Given the description of an element on the screen output the (x, y) to click on. 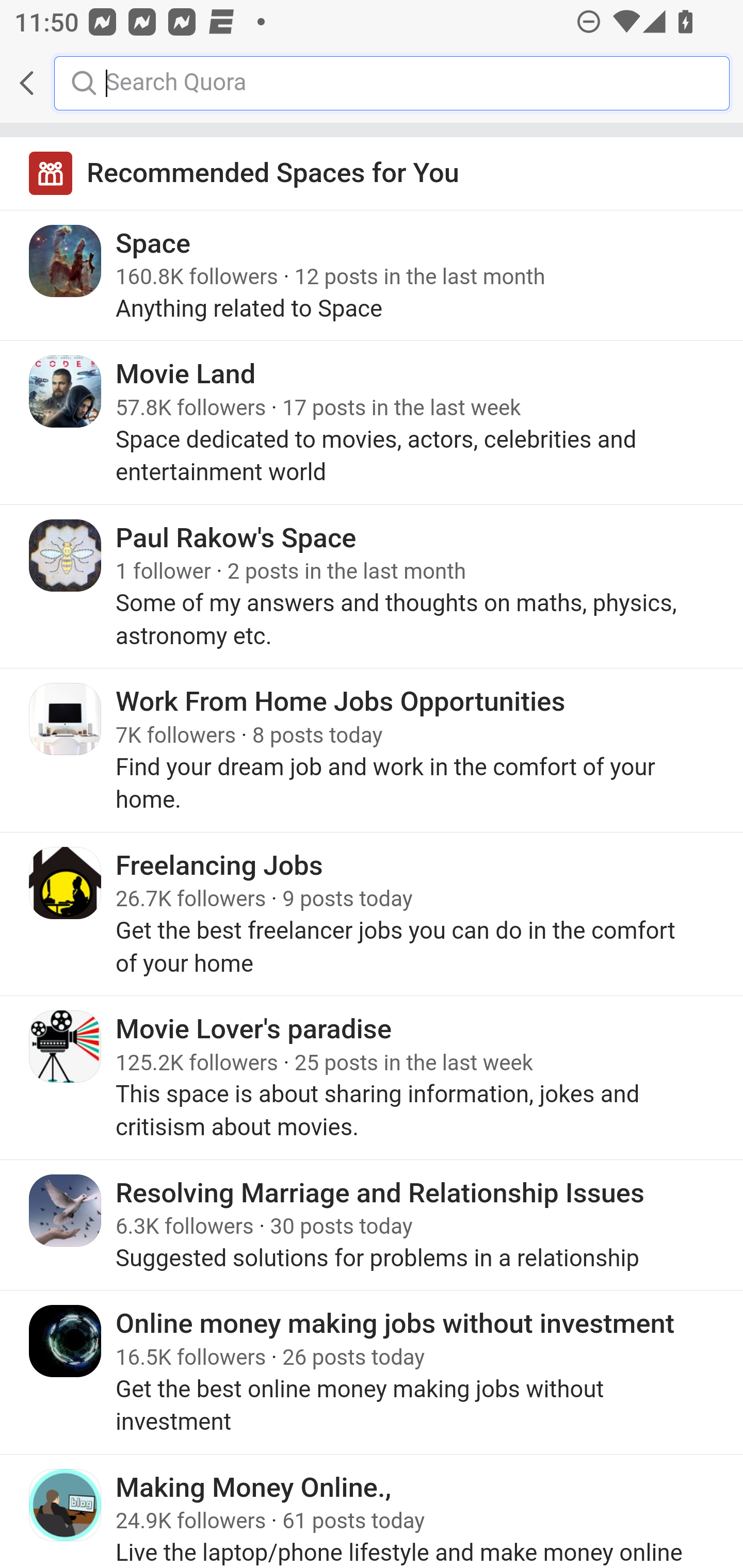
Me (64, 83)
Icon for Space (65, 260)
Icon for Movie Land (65, 391)
Icon for Paul Rakow's Space (65, 554)
Icon for Work From Home Jobs Opportunities (65, 718)
Icon for Freelancing Jobs (65, 882)
Icon for Movie Lover's paradise (65, 1045)
Icon for Making Money Online., (65, 1504)
